Given the description of an element on the screen output the (x, y) to click on. 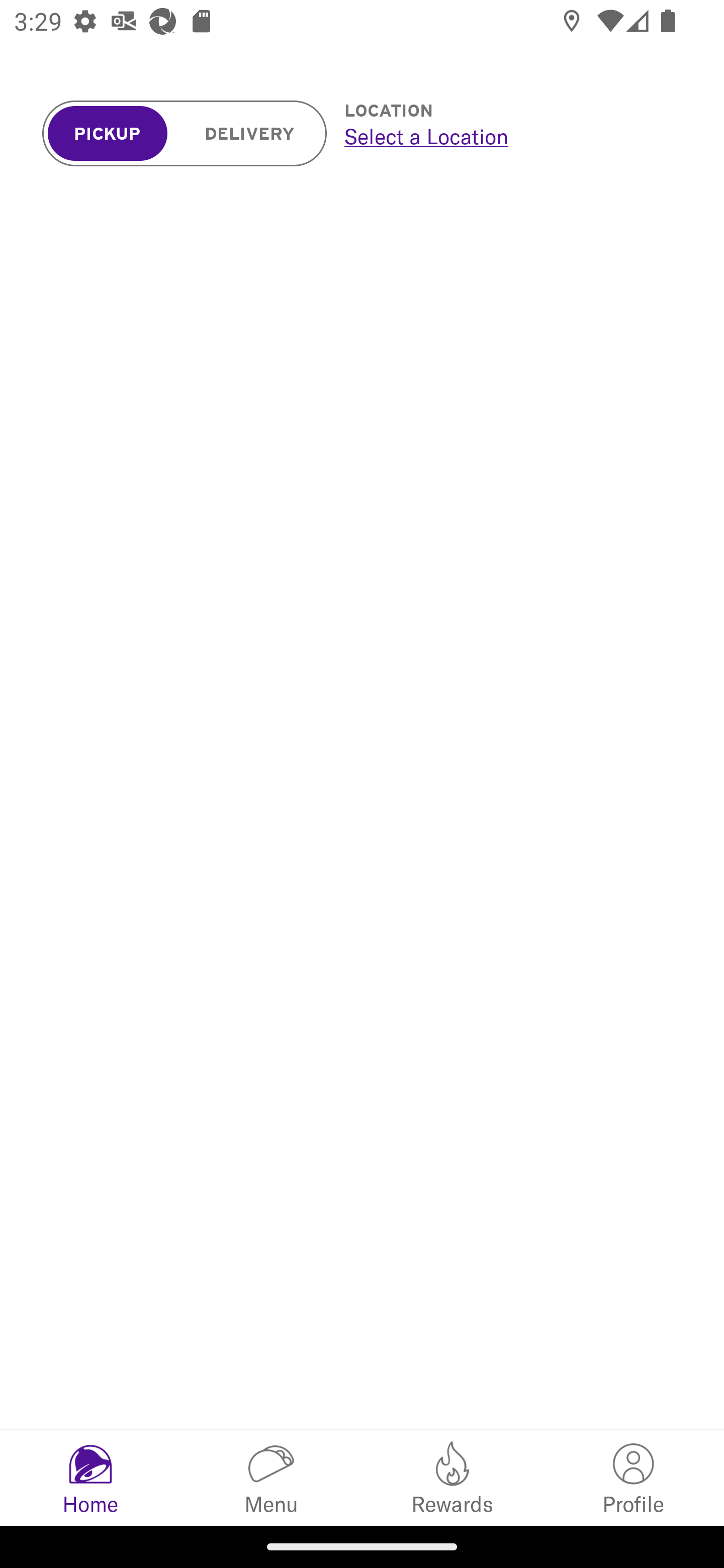
PICKUP (107, 133)
DELIVERY (249, 133)
Select a Location (511, 136)
Home (90, 1476)
Menu (271, 1476)
Rewards (452, 1476)
My Info Profile (633, 1476)
